Given the description of an element on the screen output the (x, y) to click on. 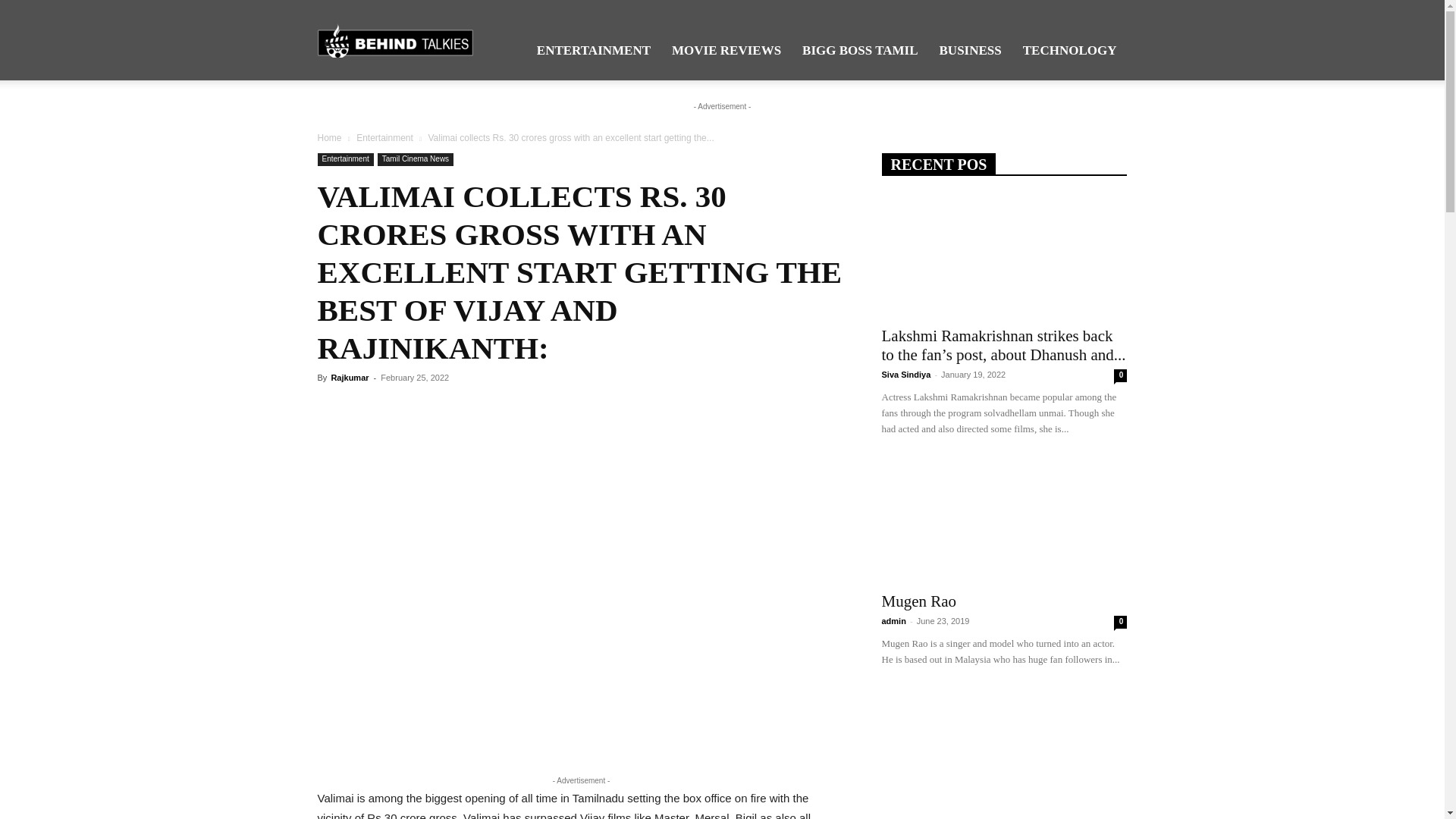
View all posts in Entertainment (384, 137)
Behind Talkies (394, 39)
Entertainment (384, 137)
TECHNOLOGY (1068, 50)
Entertainment (344, 159)
Behind Talkies (394, 40)
Home (328, 137)
ENTERTAINMENT (593, 50)
BUSINESS (969, 50)
Tamil Cinema News (414, 159)
Rajkumar (349, 377)
MOVIE REVIEWS (726, 50)
BIGG BOSS TAMIL (860, 50)
